Given the description of an element on the screen output the (x, y) to click on. 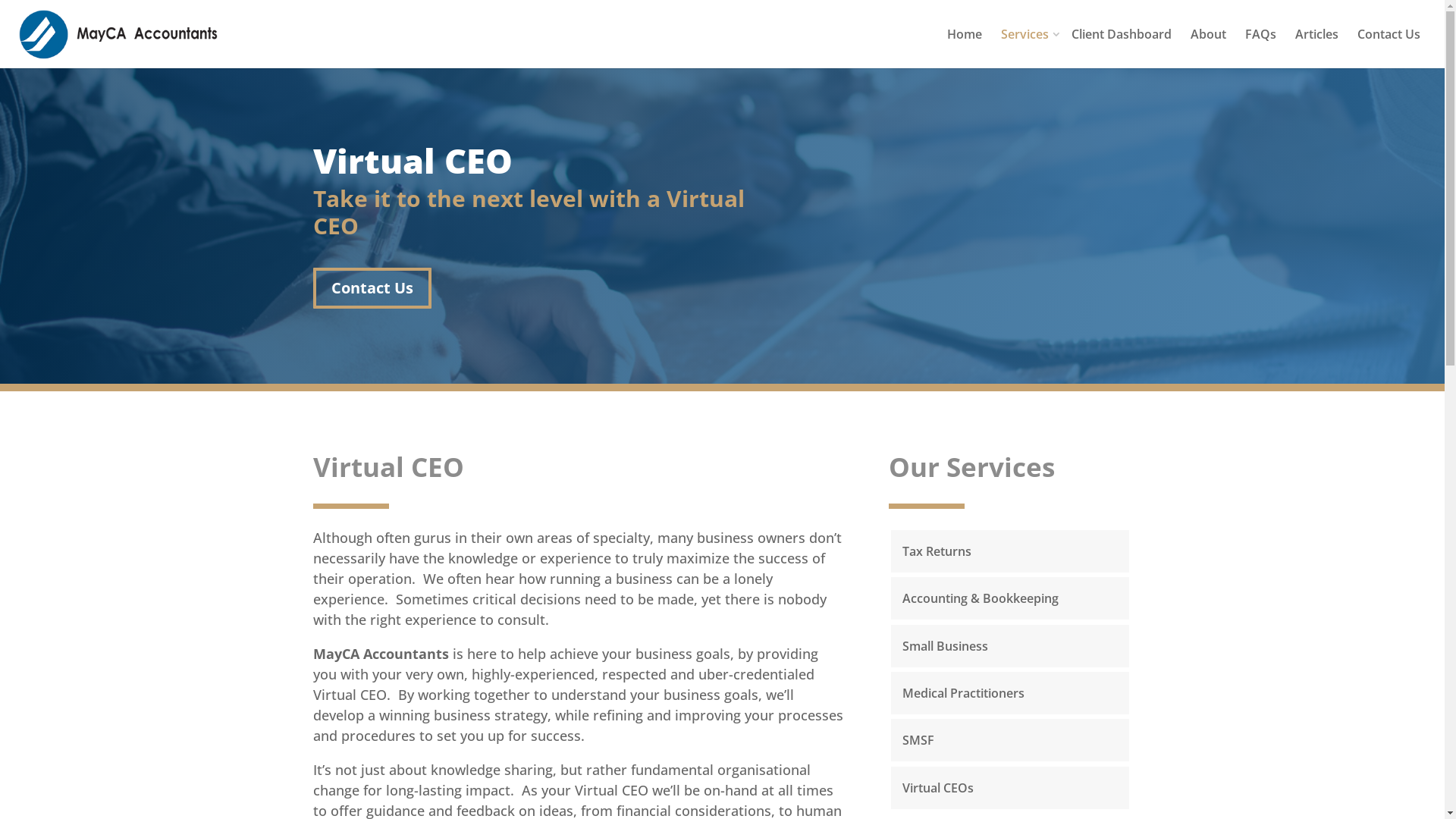
Articles Element type: text (1316, 48)
FAQs Element type: text (1260, 48)
Medical Practitioners Element type: text (963, 692)
Virtual CEOs Element type: text (937, 787)
Contact Us Element type: text (1388, 48)
Client Dashboard Element type: text (1121, 48)
Home Element type: text (964, 48)
SMSF Element type: text (918, 739)
Tax Returns Element type: text (936, 551)
About Element type: text (1208, 48)
Contact Us Element type: text (372, 287)
Accounting & Bookkeeping Element type: text (980, 598)
Small Business Element type: text (945, 645)
Services Element type: text (1031, 48)
